Given the description of an element on the screen output the (x, y) to click on. 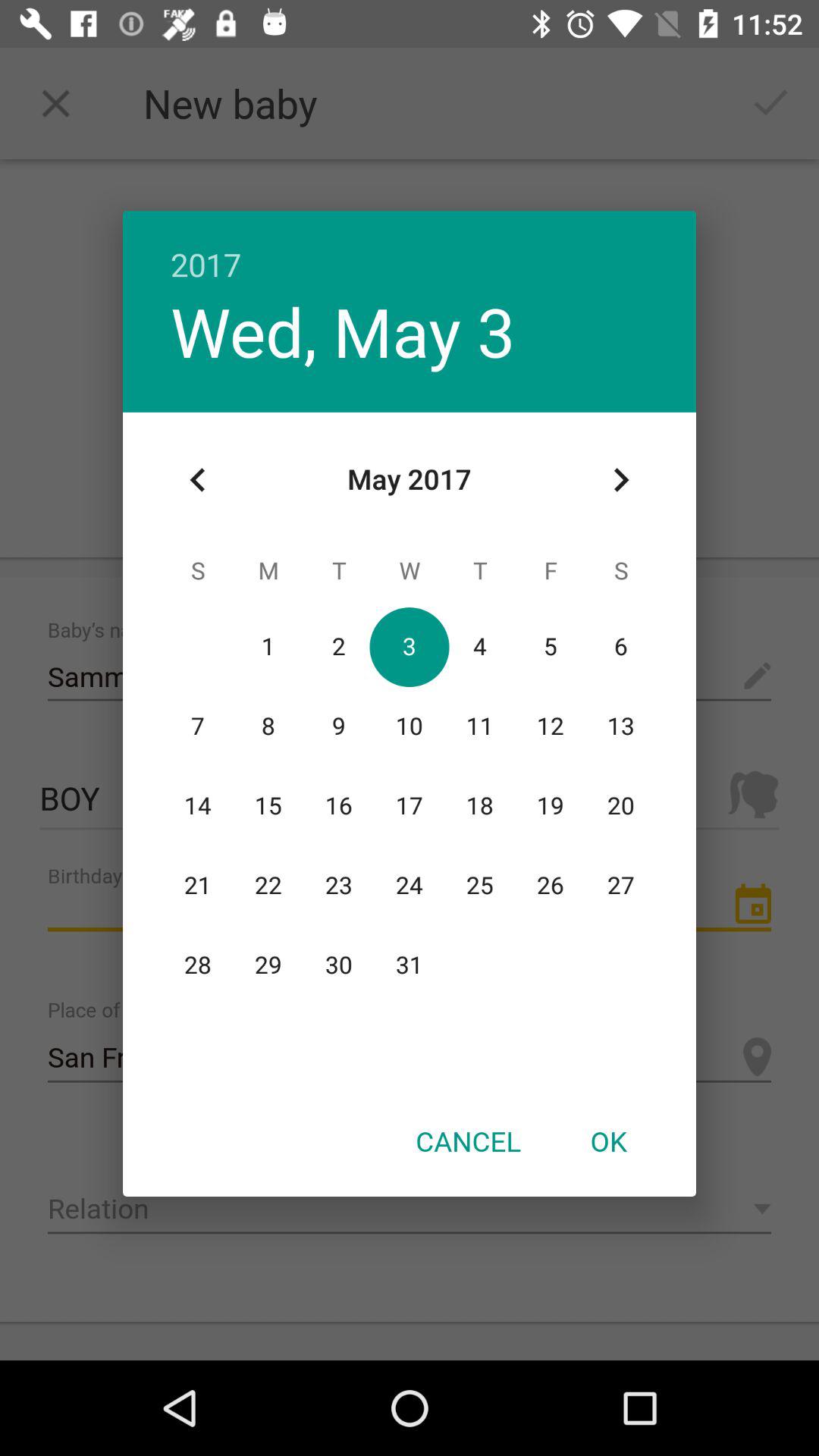
launch item to the right of the cancel icon (608, 1140)
